Given the description of an element on the screen output the (x, y) to click on. 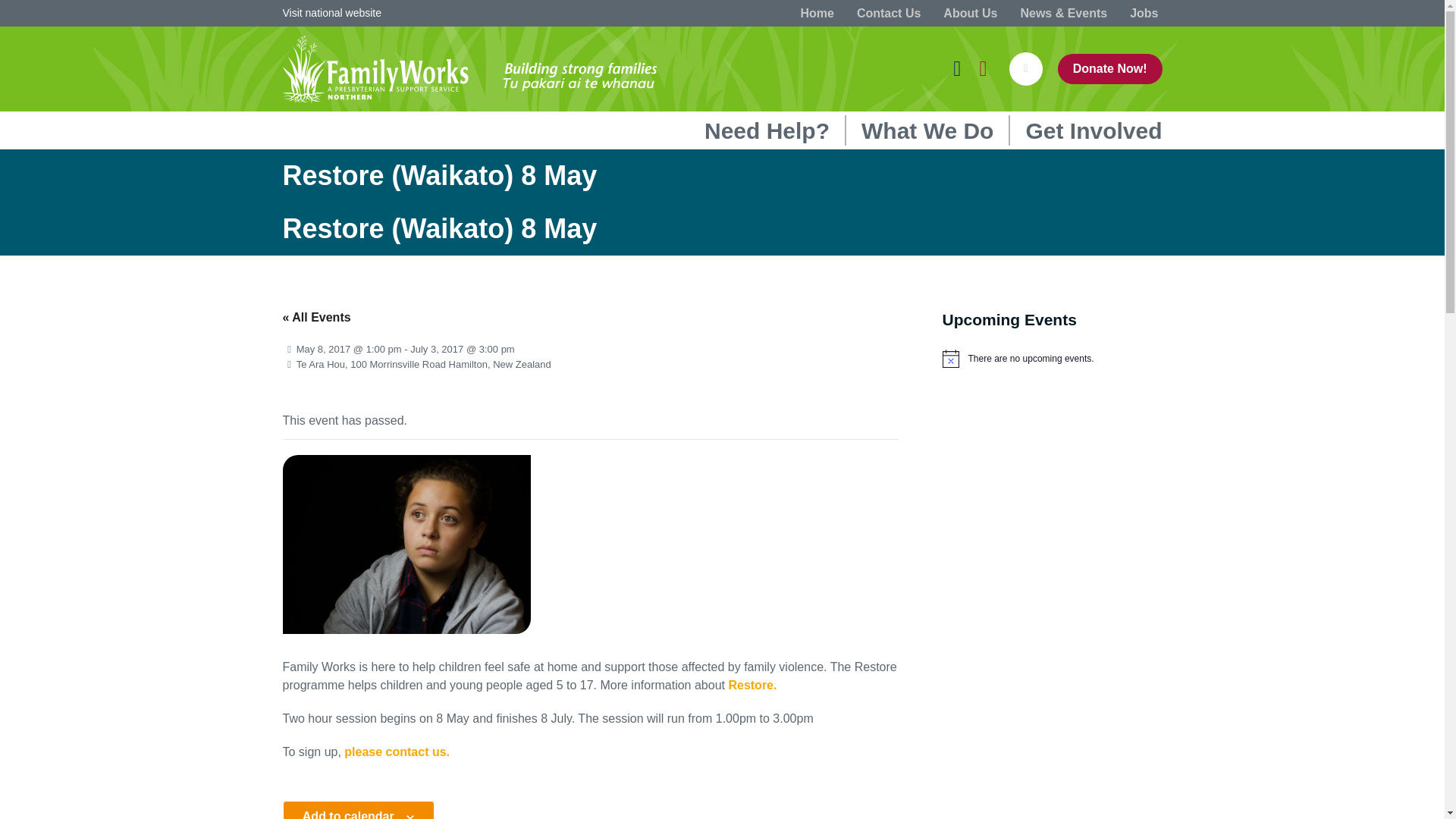
YouTube (983, 67)
Contact Us (888, 12)
Jobs (1143, 12)
Donate Now! (1109, 69)
About Us (970, 12)
What We Do (926, 132)
Home (816, 12)
Need Help? (766, 132)
Visit national website (331, 12)
Facebook (957, 67)
